Given the description of an element on the screen output the (x, y) to click on. 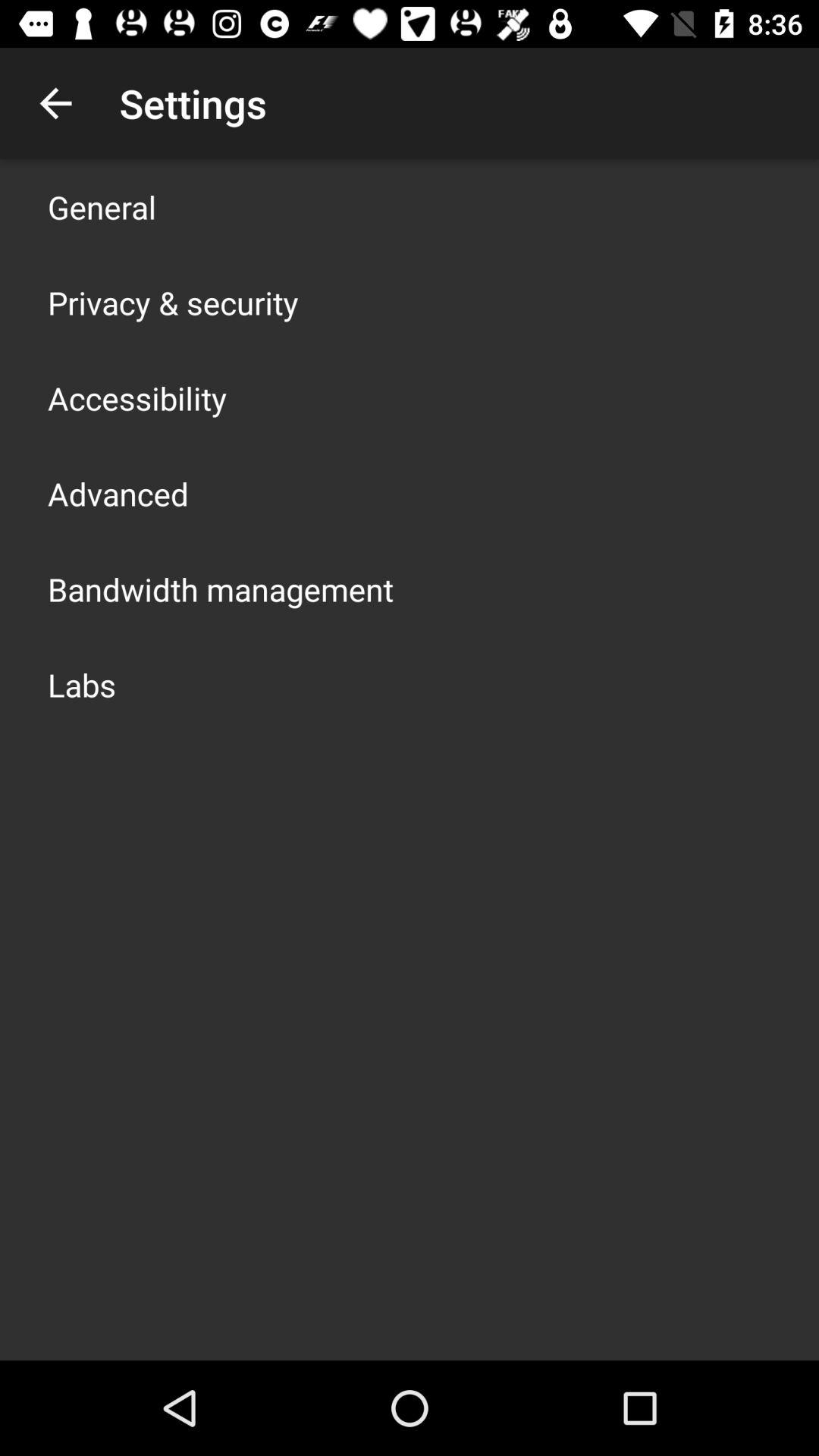
launch the item above accessibility (172, 302)
